Given the description of an element on the screen output the (x, y) to click on. 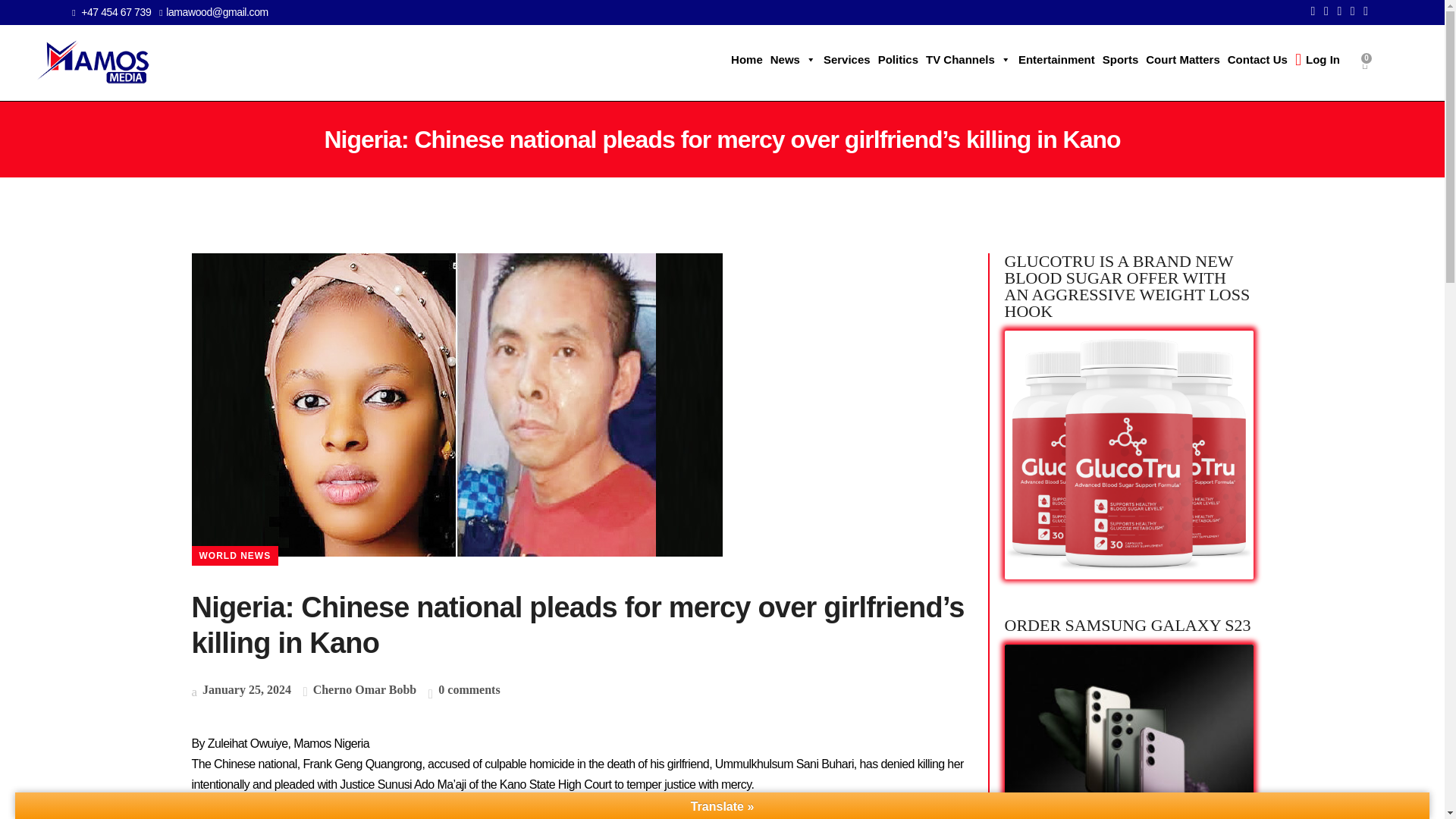
Home (746, 60)
Log In (1317, 60)
Court Matters (1182, 60)
Sports (1120, 60)
0 (1364, 63)
Politics (898, 60)
Services (847, 60)
Contact Us (1257, 60)
TV Channels (967, 60)
Entertainment (1056, 60)
News (793, 60)
